Given the description of an element on the screen output the (x, y) to click on. 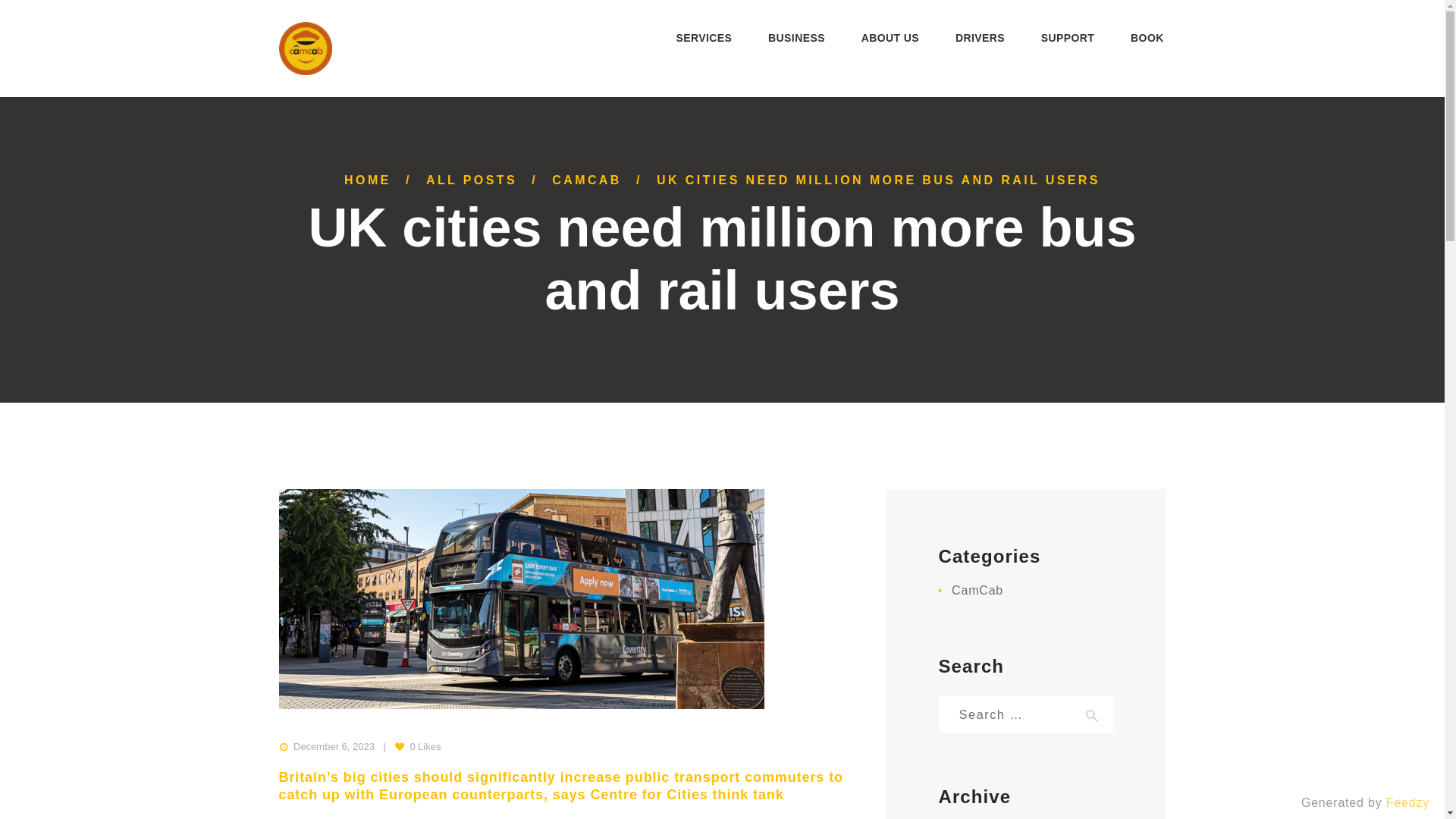
December 6, 2023 (334, 746)
CamCab (977, 590)
Like (409, 746)
BUSINESS (796, 37)
CAMCAB (586, 180)
ABOUT US (889, 37)
ALL POSTS (471, 179)
DRIVERS (980, 37)
Search (1091, 714)
Search (1091, 714)
SERVICES (703, 37)
0Likes (409, 746)
HOME (367, 180)
BOOK (1147, 37)
SUPPORT (1067, 37)
